Given the description of an element on the screen output the (x, y) to click on. 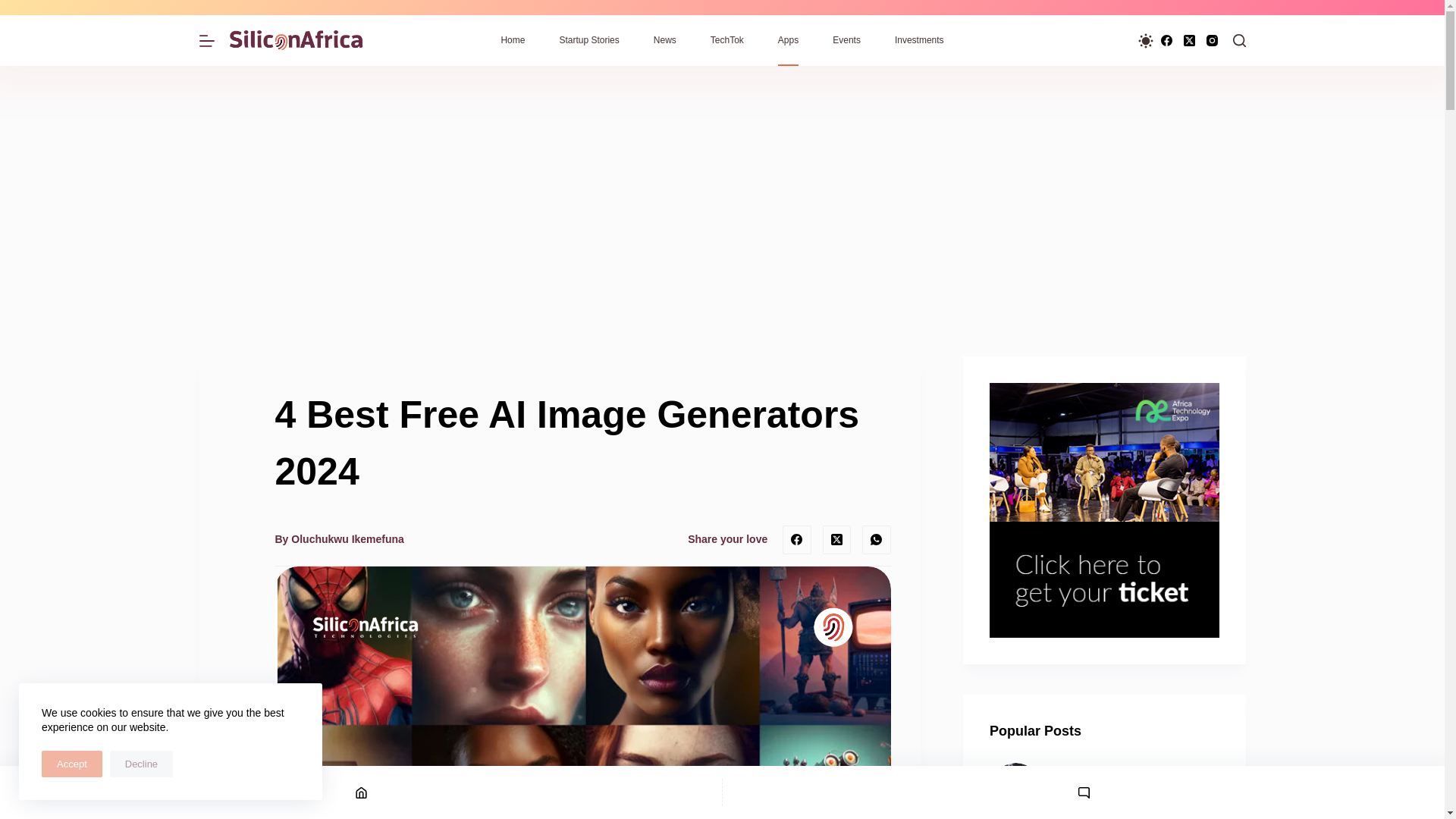
Apps (787, 40)
Investments (918, 40)
Skip to content (15, 7)
4 Best Free AI Image Generators 2024 (582, 443)
Accept (71, 764)
TechTok (726, 40)
Decline (141, 764)
News (664, 40)
Startup Stories (588, 40)
Home (512, 40)
Events (846, 40)
